Given the description of an element on the screen output the (x, y) to click on. 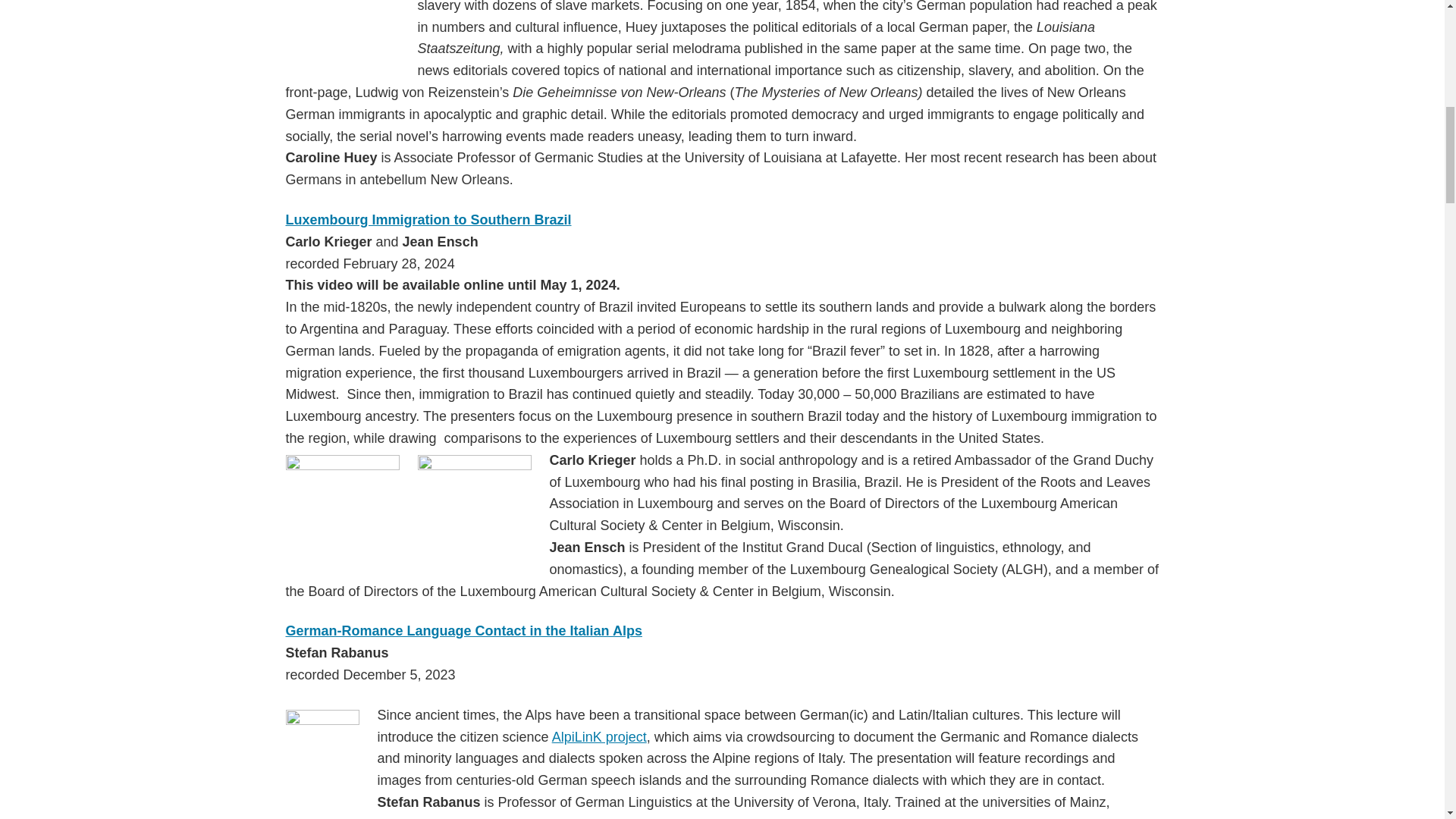
Luxembourg Immigration to Southern Brazil (427, 219)
AlpiLinK project (598, 736)
German-Romance Language Contact in the Italian Alps (463, 630)
